Given the description of an element on the screen output the (x, y) to click on. 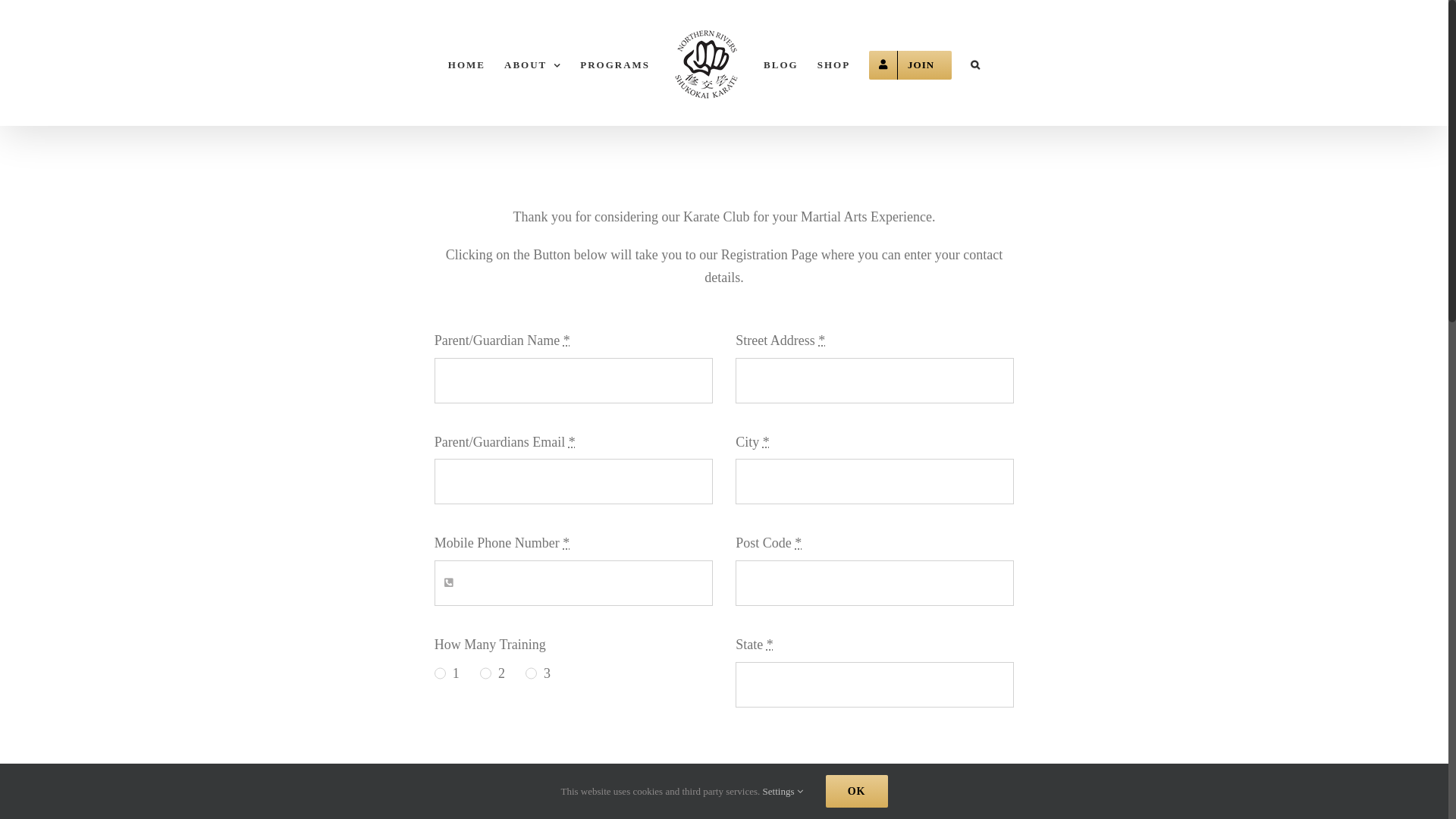
ABOUT Element type: text (532, 62)
Settings Element type: text (782, 791)
HOME Element type: text (466, 62)
JOIN Element type: text (910, 62)
OK Element type: text (856, 791)
BLOG Element type: text (780, 62)
Search Element type: hover (975, 62)
SHOP Element type: text (833, 62)
PROGRAMS Element type: text (614, 62)
